Given the description of an element on the screen output the (x, y) to click on. 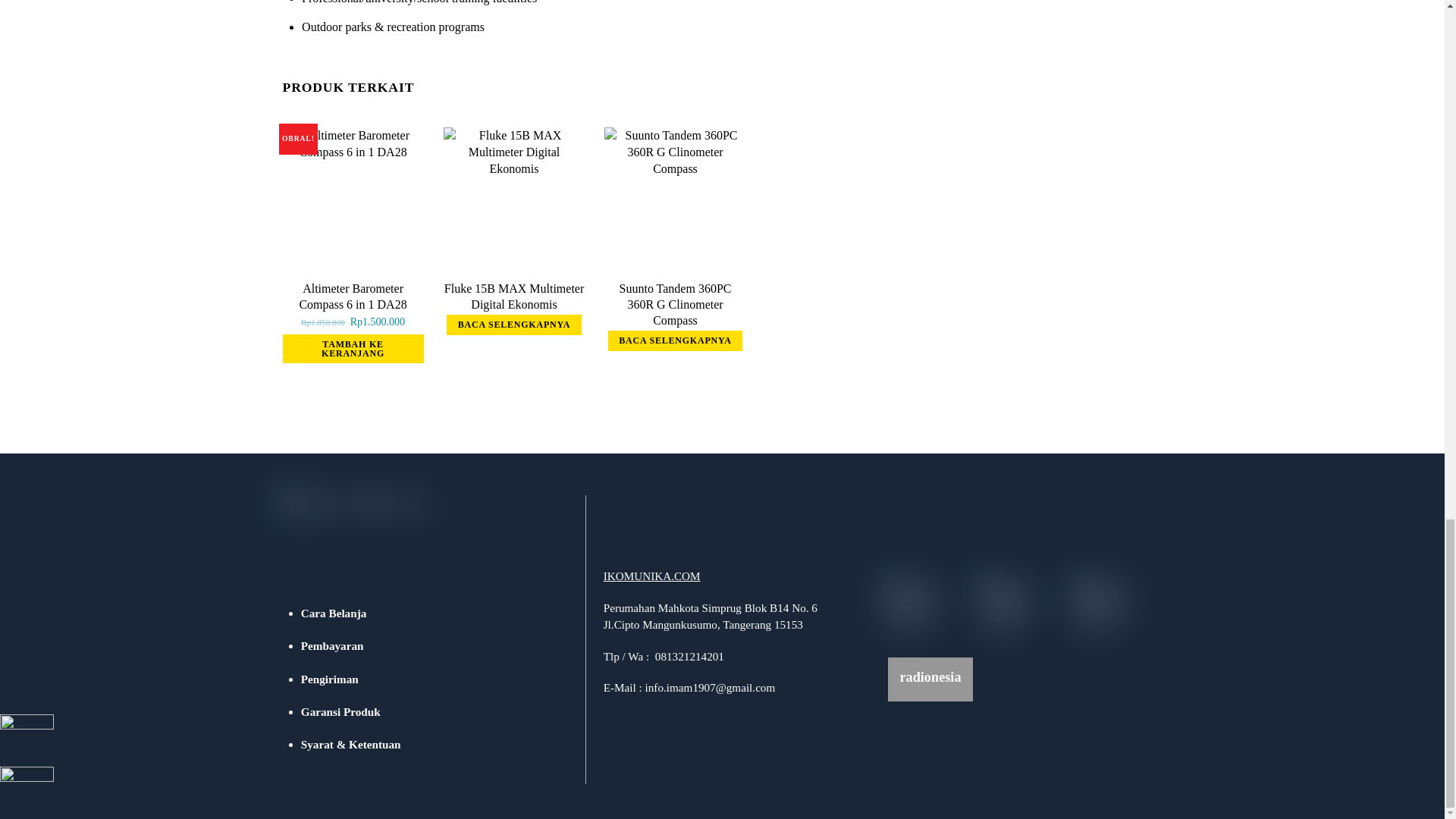
Altimeter Barometer Compass 6 in 1 DA28 (352, 197)
Altimeter Barometer Compass 6 in 1 DA28 (352, 296)
Fluke 15B MAX Multimeter Digital Ekonomis (514, 197)
TAMBAH KE KERANJANG (352, 348)
Suunto Tandem 360PC 360R G Clinometer Compass (674, 197)
